Given the description of an element on the screen output the (x, y) to click on. 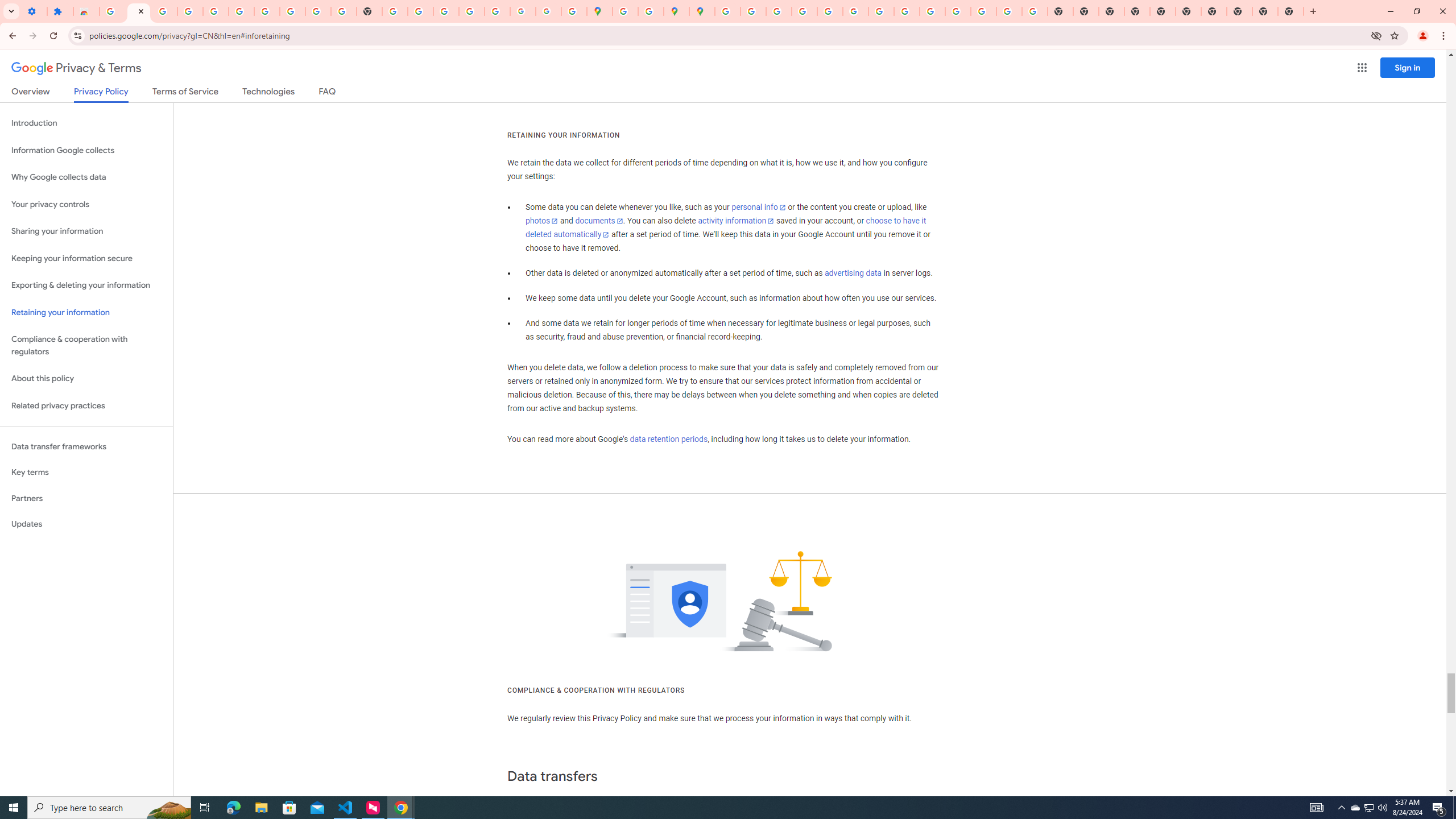
Sharing your information (86, 230)
Retaining your information (86, 312)
Safety in Our Products - Google Safety Center (650, 11)
Keeping your information secure (86, 258)
Reviews: Helix Fruit Jump Arcade Game (86, 11)
Google Images (1034, 11)
Related privacy practices (86, 405)
